Given the description of an element on the screen output the (x, y) to click on. 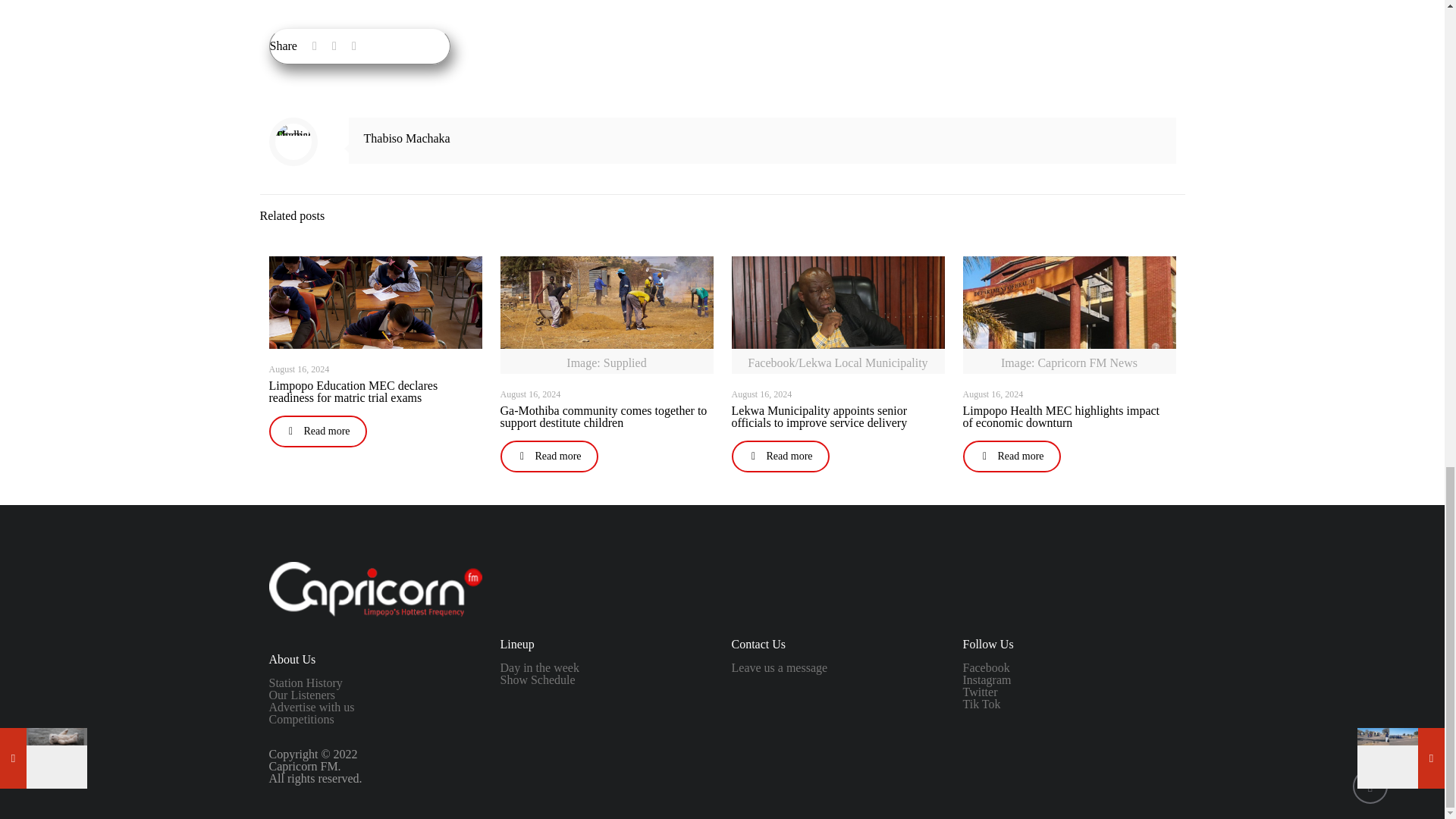
Read more (316, 431)
Thabiso Machaka (406, 137)
Read more (549, 456)
Read more (779, 456)
